Given the description of an element on the screen output the (x, y) to click on. 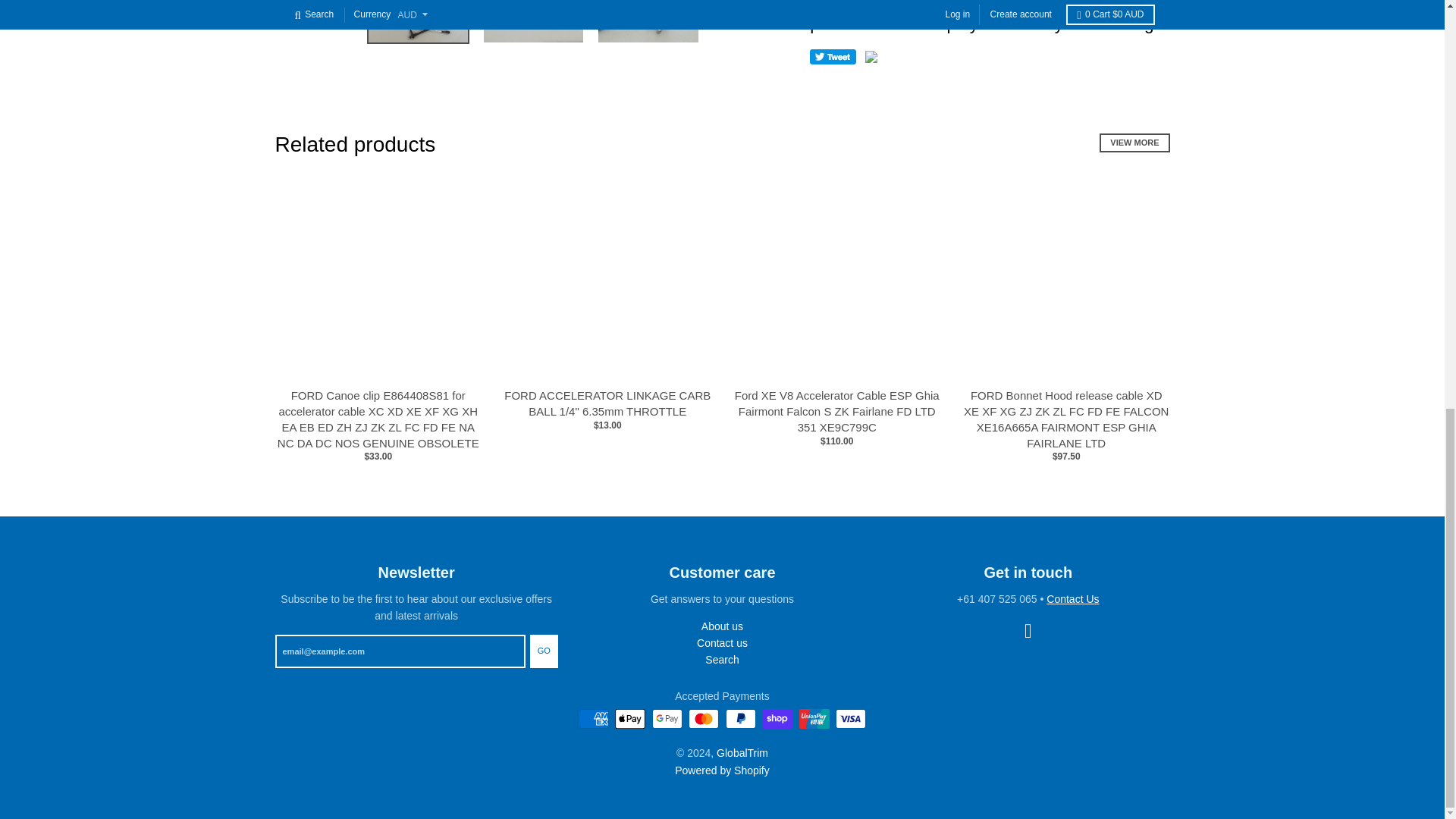
VIEW MORE (1134, 143)
Tweet (832, 56)
